Given the description of an element on the screen output the (x, y) to click on. 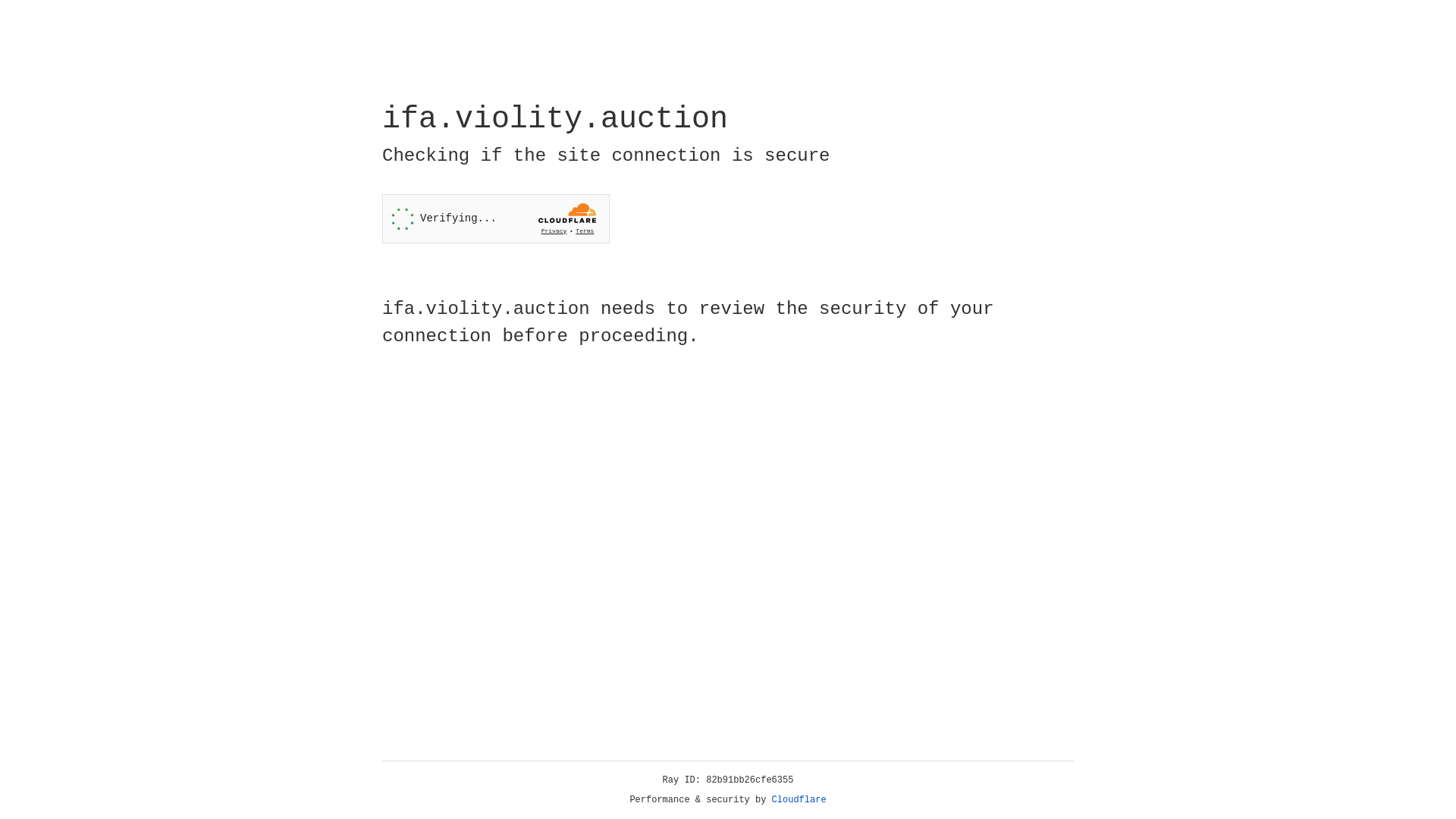
Widget containing a Cloudflare security challenge Element type: hover (495, 218)
Cloudflare Element type: text (798, 799)
